Given the description of an element on the screen output the (x, y) to click on. 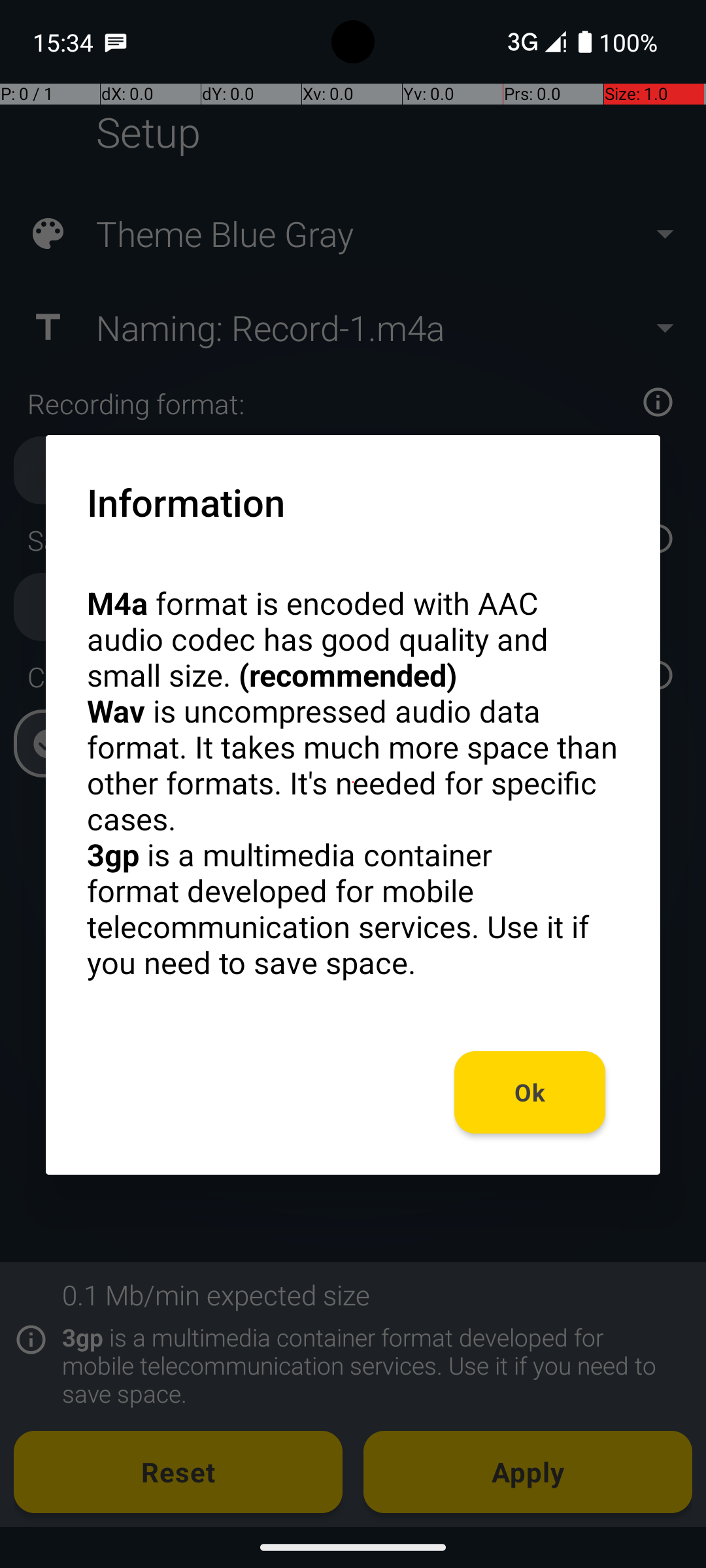
Information Element type: android.widget.TextView (185, 501)
M4a format is encoded with AAC audio codec has good quality and small size. (recommended) 
Wav is uncompressed audio data format. It takes much more space than other formats. It's needed for specific cases. 
3gp is a multimedia container format developed for mobile telecommunication services. Use it if you need to save space.  Element type: android.widget.TextView (352, 782)
Ok Element type: android.widget.Button (529, 1092)
